Given the description of an element on the screen output the (x, y) to click on. 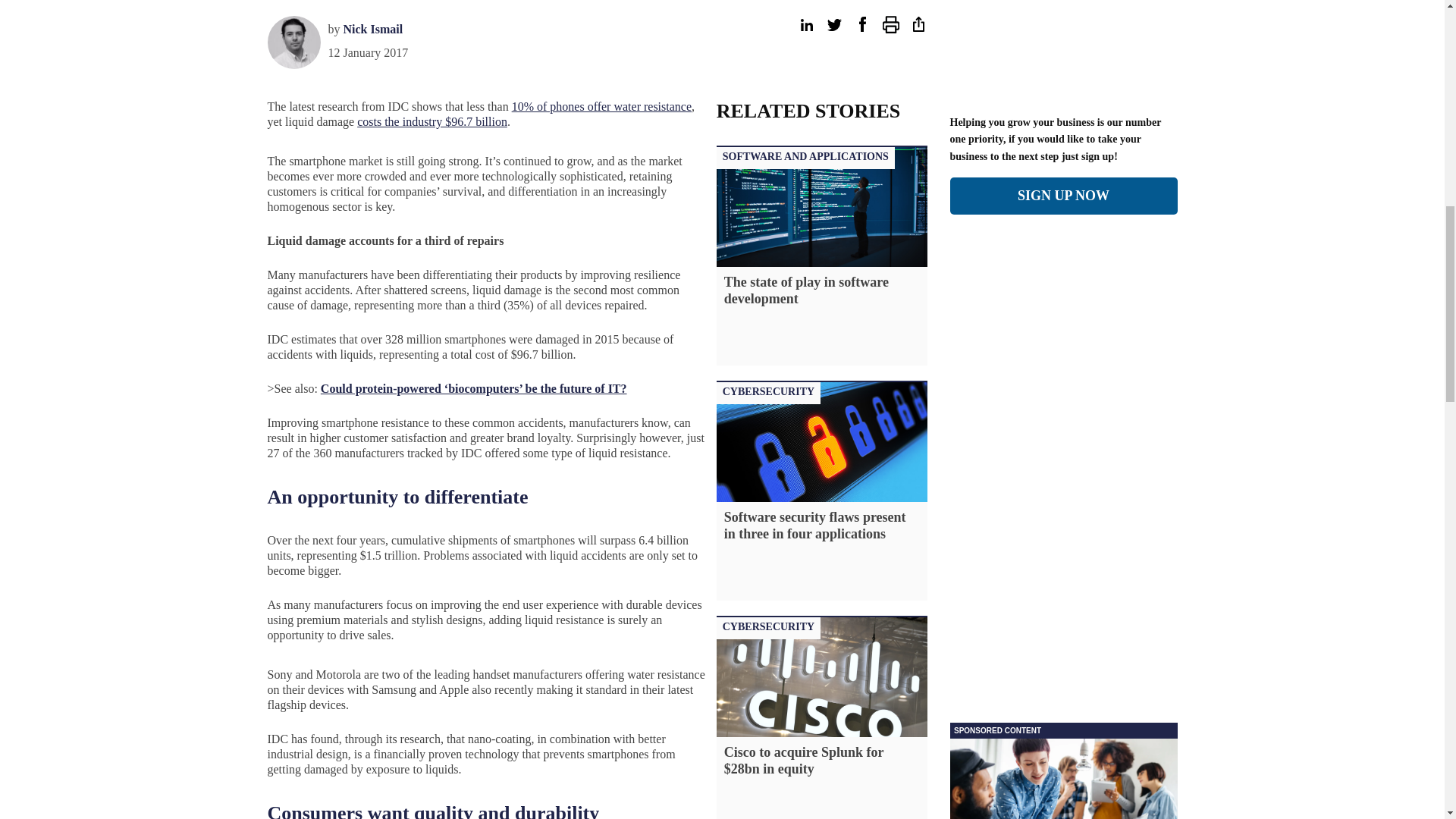
Tweet this article (835, 24)
3rd party ad content (1249, 5)
3rd party ad content (1062, 487)
Share on Facebook (861, 24)
3rd party ad content (195, 5)
3rd party ad content (1062, 770)
Share on LinkedIn (805, 24)
Print this article (890, 24)
